Given the description of an element on the screen output the (x, y) to click on. 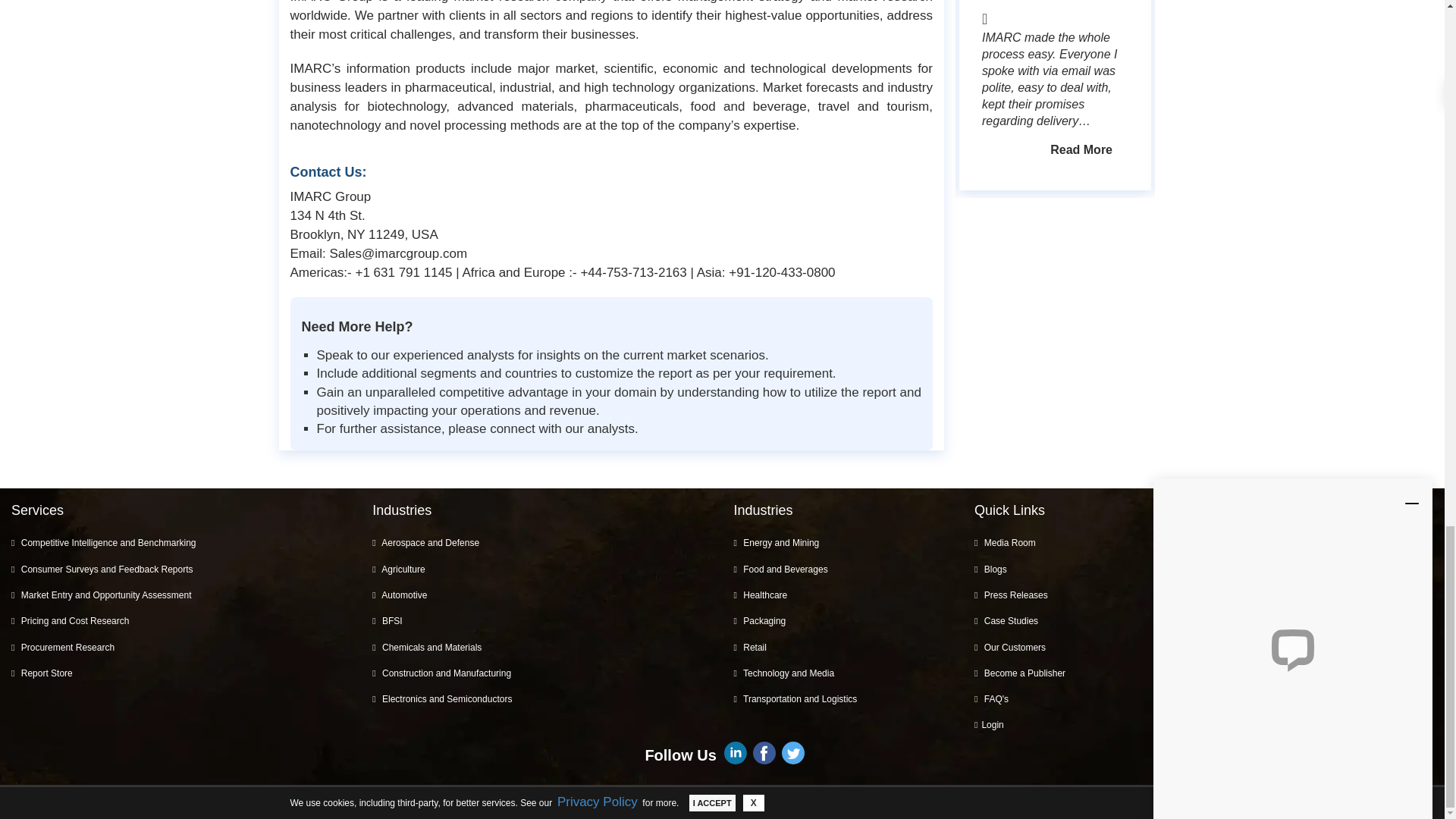
Know more (1081, 150)
